Given the description of an element on the screen output the (x, y) to click on. 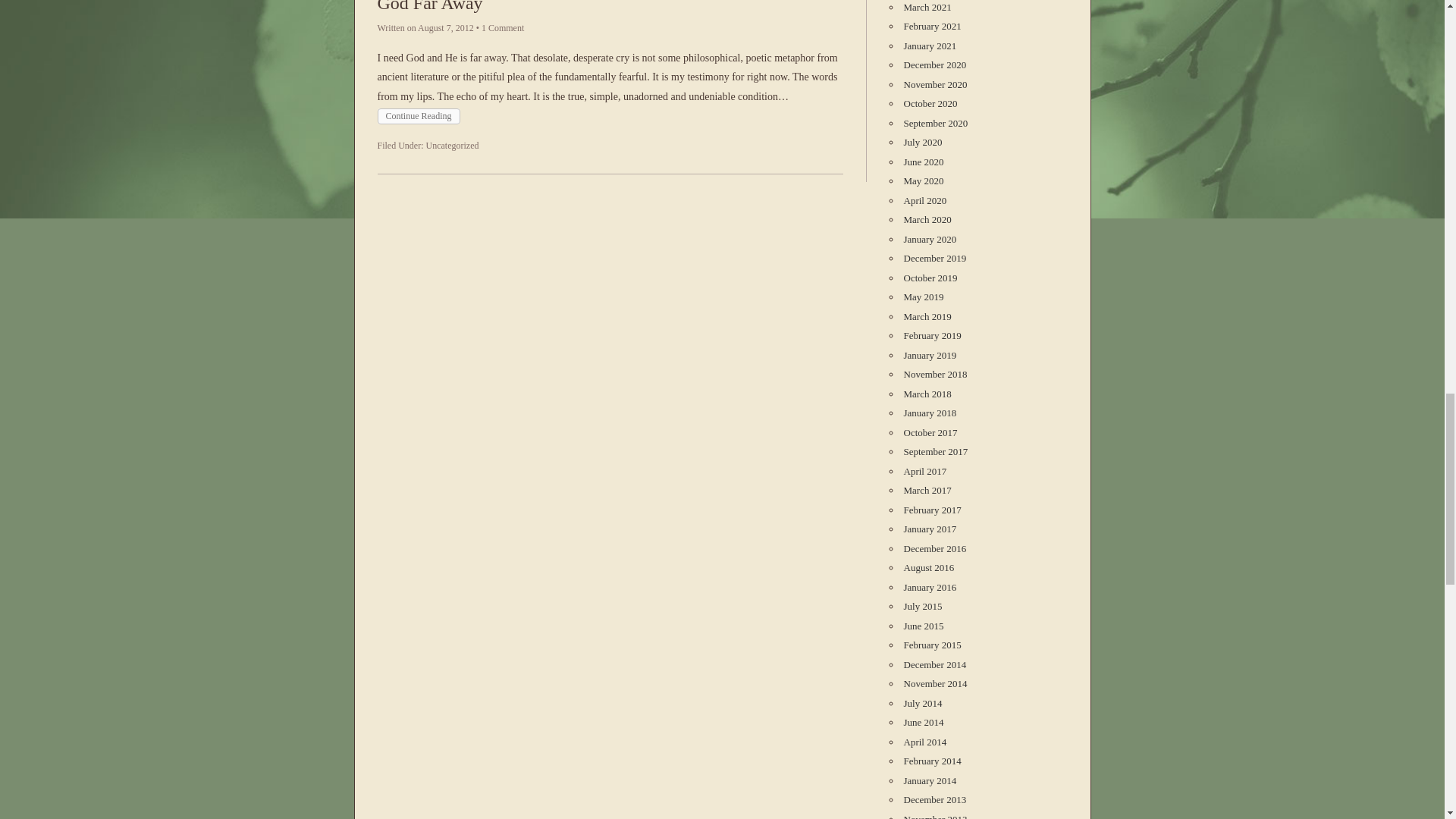
1 Comment (502, 27)
God Far Away (430, 6)
Continue Reading (418, 116)
Uncategorized (452, 145)
God Far Away (430, 6)
